Given the description of an element on the screen output the (x, y) to click on. 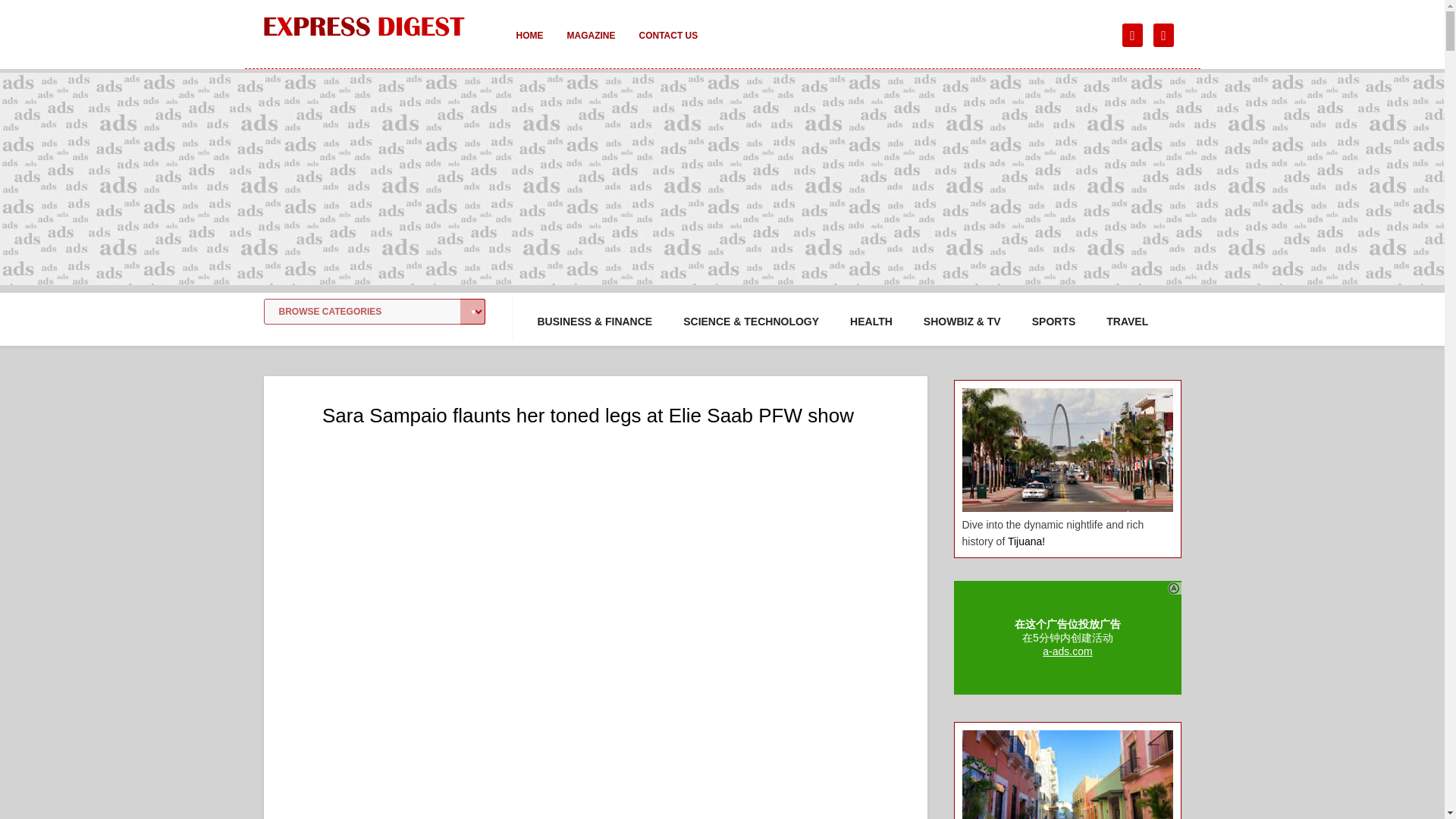
MAGAZINE (590, 45)
CONTACT US (667, 45)
SPORTS (1053, 321)
Tijuana! (1026, 541)
TRAVEL (1127, 321)
HEALTH (871, 321)
